Given the description of an element on the screen output the (x, y) to click on. 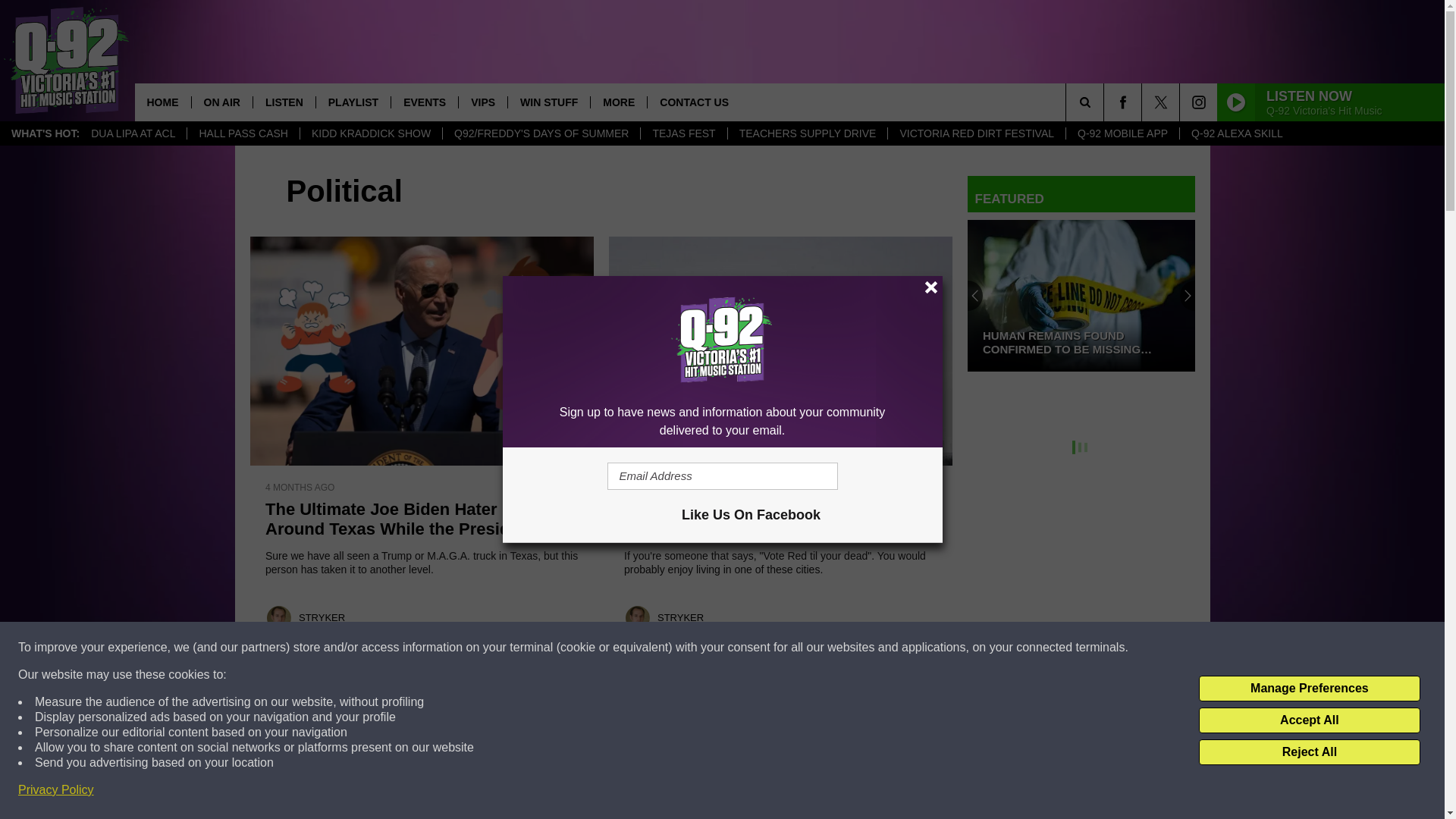
KIDD KRADDICK SHOW (370, 133)
VIPS (482, 102)
ON AIR (220, 102)
TEACHERS SUPPLY DRIVE (807, 133)
PLAYLIST (352, 102)
Q-92 MOBILE APP (1122, 133)
MORE (617, 102)
EVENTS (424, 102)
HALL PASS CASH (242, 133)
TEJAS FEST (683, 133)
DUA LIPA AT ACL (133, 133)
LISTEN (283, 102)
SEARCH (1106, 102)
Reject All (1309, 751)
Privacy Policy (55, 789)
